Given the description of an element on the screen output the (x, y) to click on. 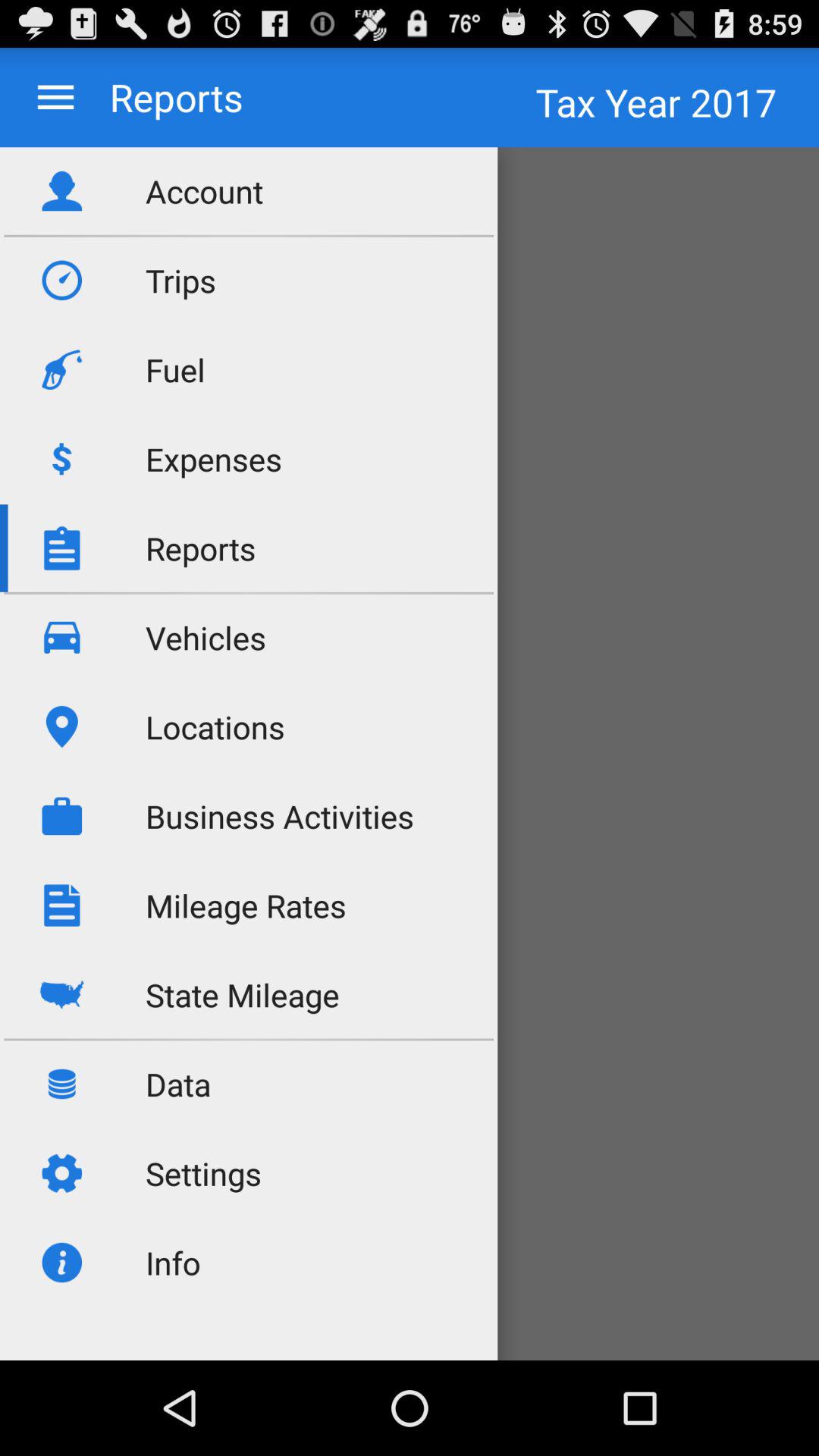
press the trips icon (180, 280)
